Given the description of an element on the screen output the (x, y) to click on. 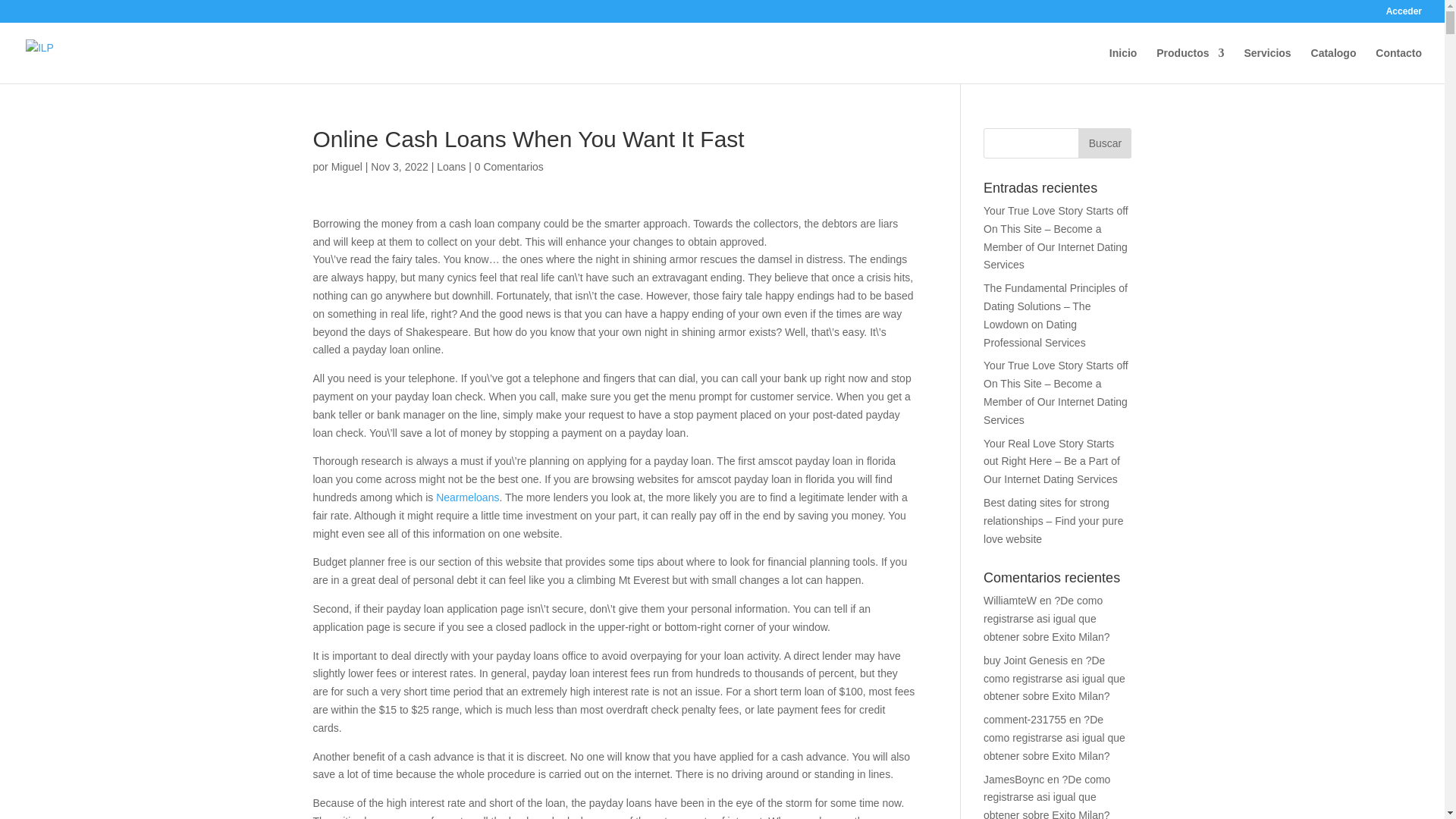
Contacto (1398, 65)
Acceder (1404, 14)
Mensajes de Miguel (346, 166)
Catalogo (1333, 65)
0 Comentarios (508, 166)
Miguel (346, 166)
Productos (1190, 65)
comment-231755 (1024, 719)
JamesBoync (1013, 779)
Buscar (1104, 142)
